Given the description of an element on the screen output the (x, y) to click on. 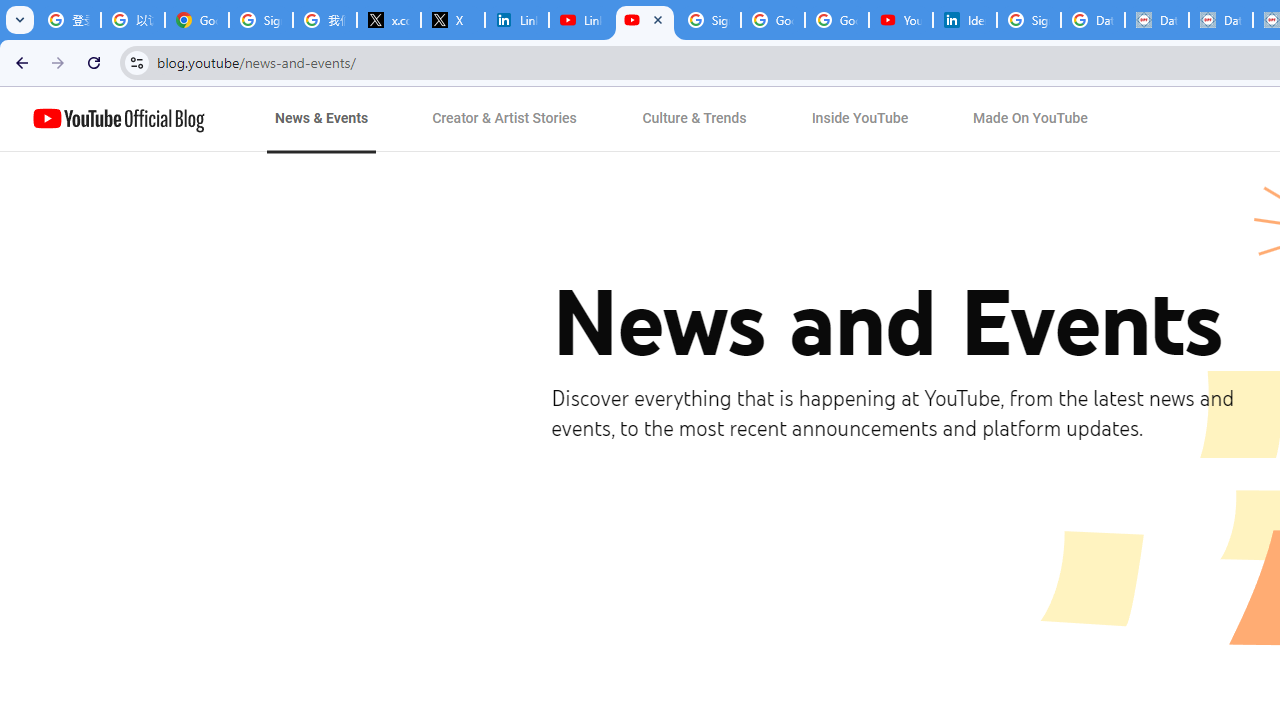
Data Privacy Framework (1221, 20)
YouTube Official Blog logo (118, 119)
